Given the description of an element on the screen output the (x, y) to click on. 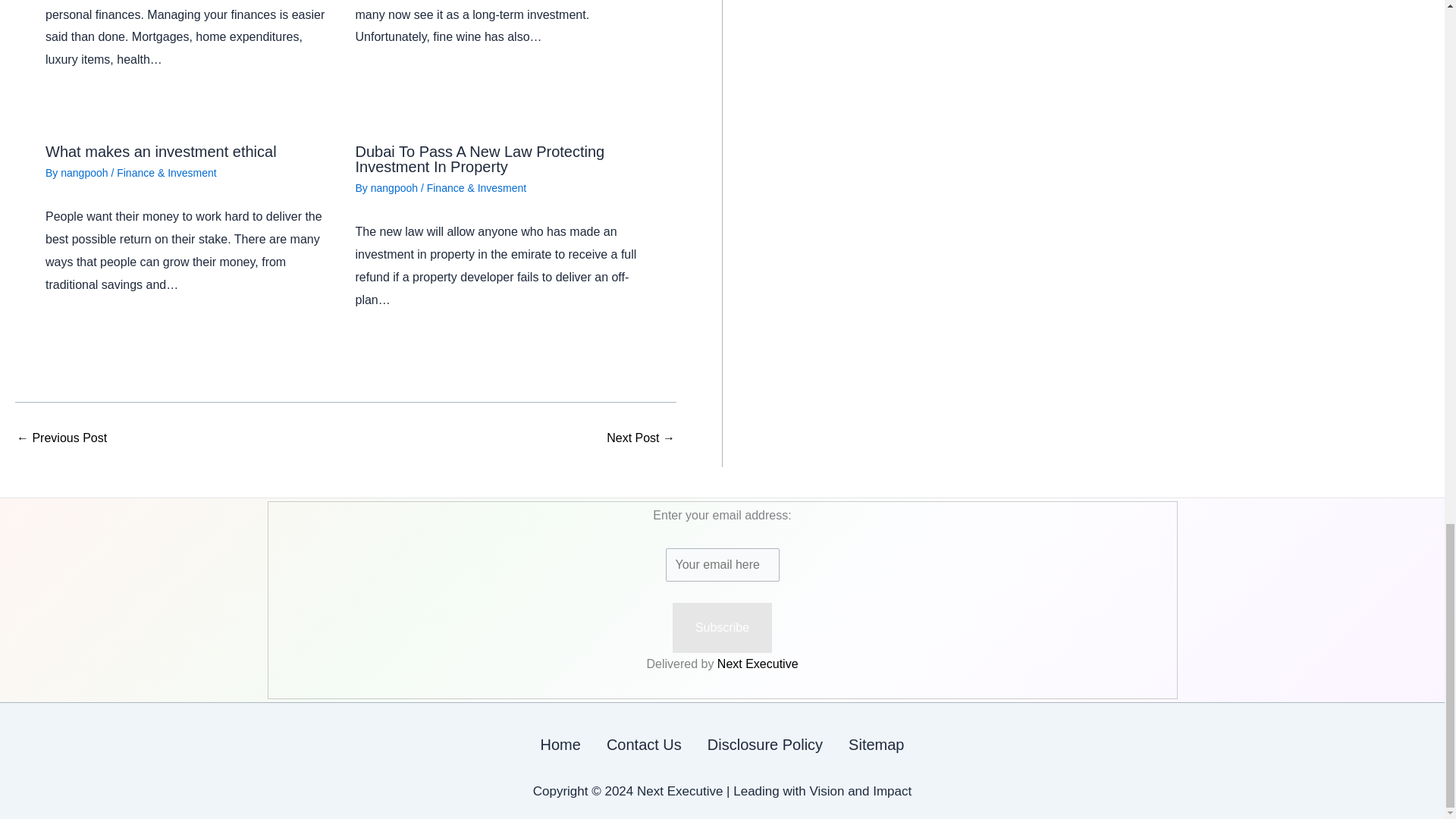
Subscribe (721, 627)
View all posts by nangpooh (85, 173)
View all posts by nangpooh (395, 187)
Steps to a Profitable Forex trade (61, 438)
